Given the description of an element on the screen output the (x, y) to click on. 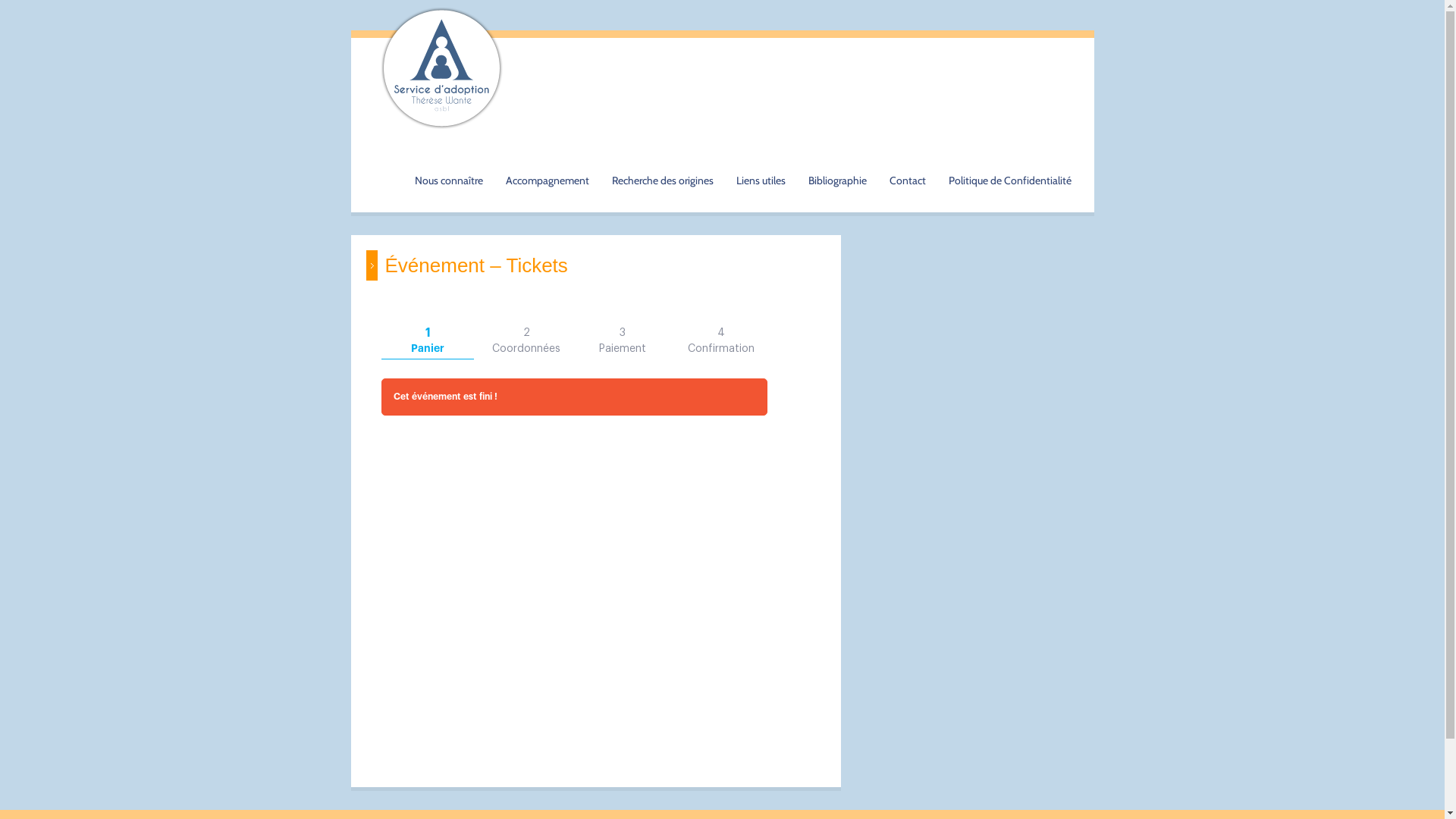
Liens utiles Element type: text (760, 163)
Recherche des origines Element type: text (661, 163)
Bibliographie Element type: text (837, 163)
Accompagnement Element type: text (546, 163)
Contact Element type: text (906, 163)
